Given the description of an element on the screen output the (x, y) to click on. 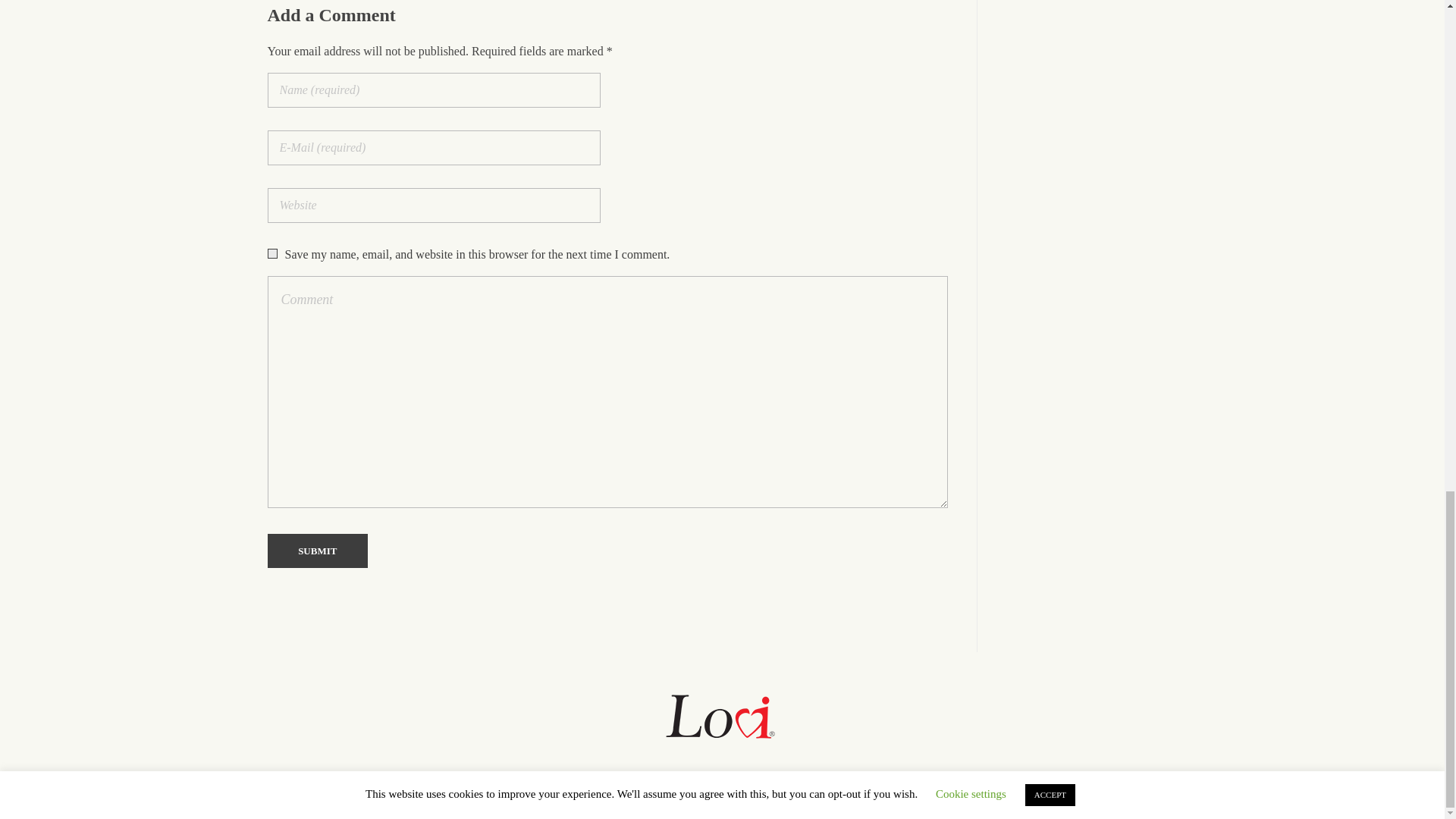
yes (271, 253)
Studio Chao (835, 795)
Submit (317, 550)
Submit (317, 550)
